Given the description of an element on the screen output the (x, y) to click on. 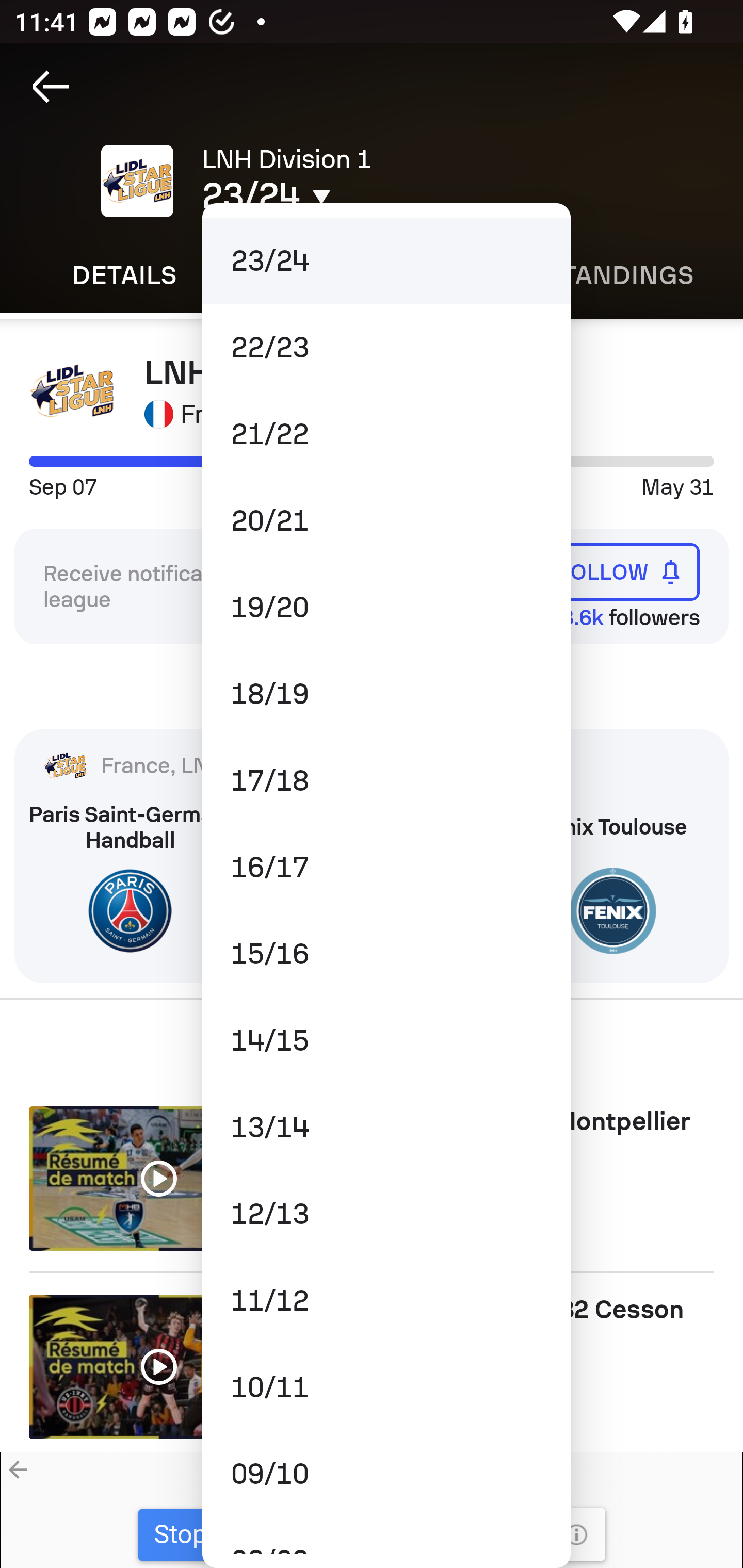
23/24 (386, 260)
22/23 (386, 347)
21/22 (386, 434)
20/21 (386, 521)
19/20 (386, 607)
18/19 (386, 693)
17/18 (386, 780)
16/17 (386, 867)
15/16 (386, 954)
14/15 (386, 1040)
13/14 (386, 1127)
12/13 (386, 1214)
11/12 (386, 1300)
10/11 (386, 1386)
09/10 (386, 1473)
